Given the description of an element on the screen output the (x, y) to click on. 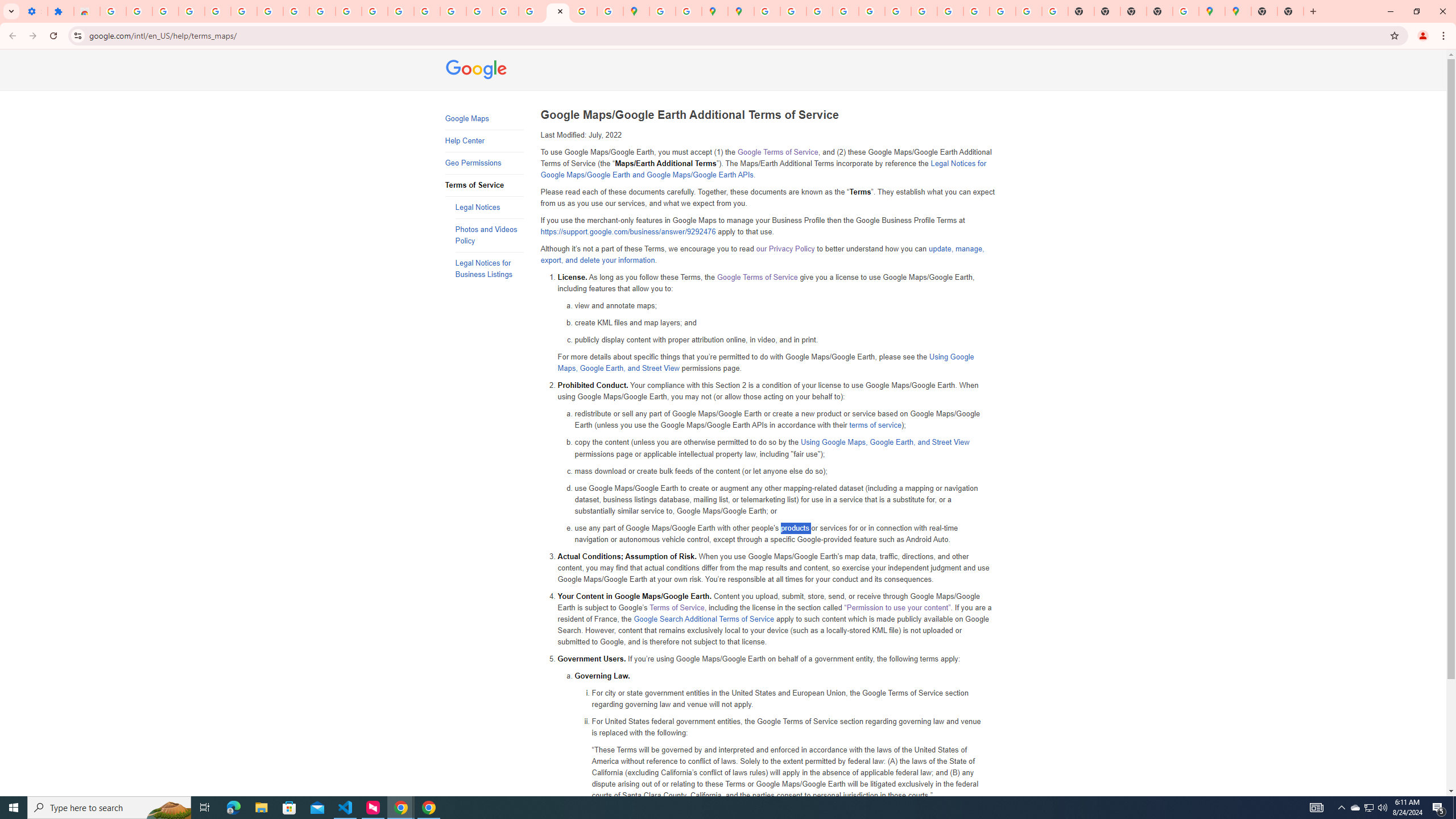
Legal Notices (489, 207)
Privacy Help Center - Policies Help (792, 11)
Google Maps (1238, 11)
Google Terms of Service (756, 276)
Using Google Maps, Google Earth, and Street View (884, 442)
https://scholar.google.com/ (400, 11)
update, manage, export, and delete your information (762, 254)
